Given the description of an element on the screen output the (x, y) to click on. 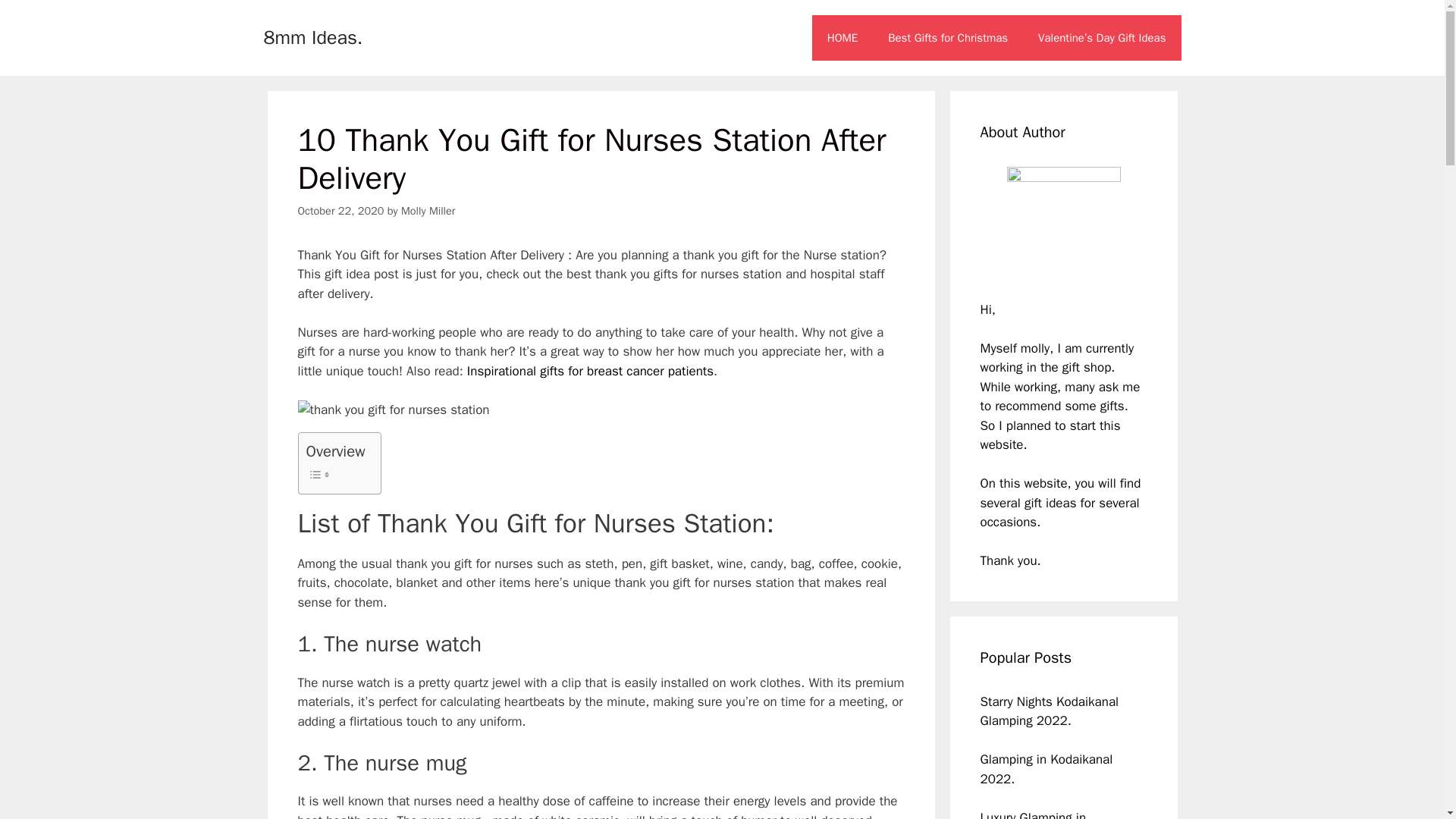
Luxury Glamping in Kodaikanal (1032, 814)
Best Gifts for Christmas (947, 37)
Inspirational gifts for breast cancer patients (590, 371)
HOME (842, 37)
Kodaikanal Glamping (1048, 710)
8mm Ideas. (312, 37)
Glamping in Kodaikanal (1045, 759)
